Given the description of an element on the screen output the (x, y) to click on. 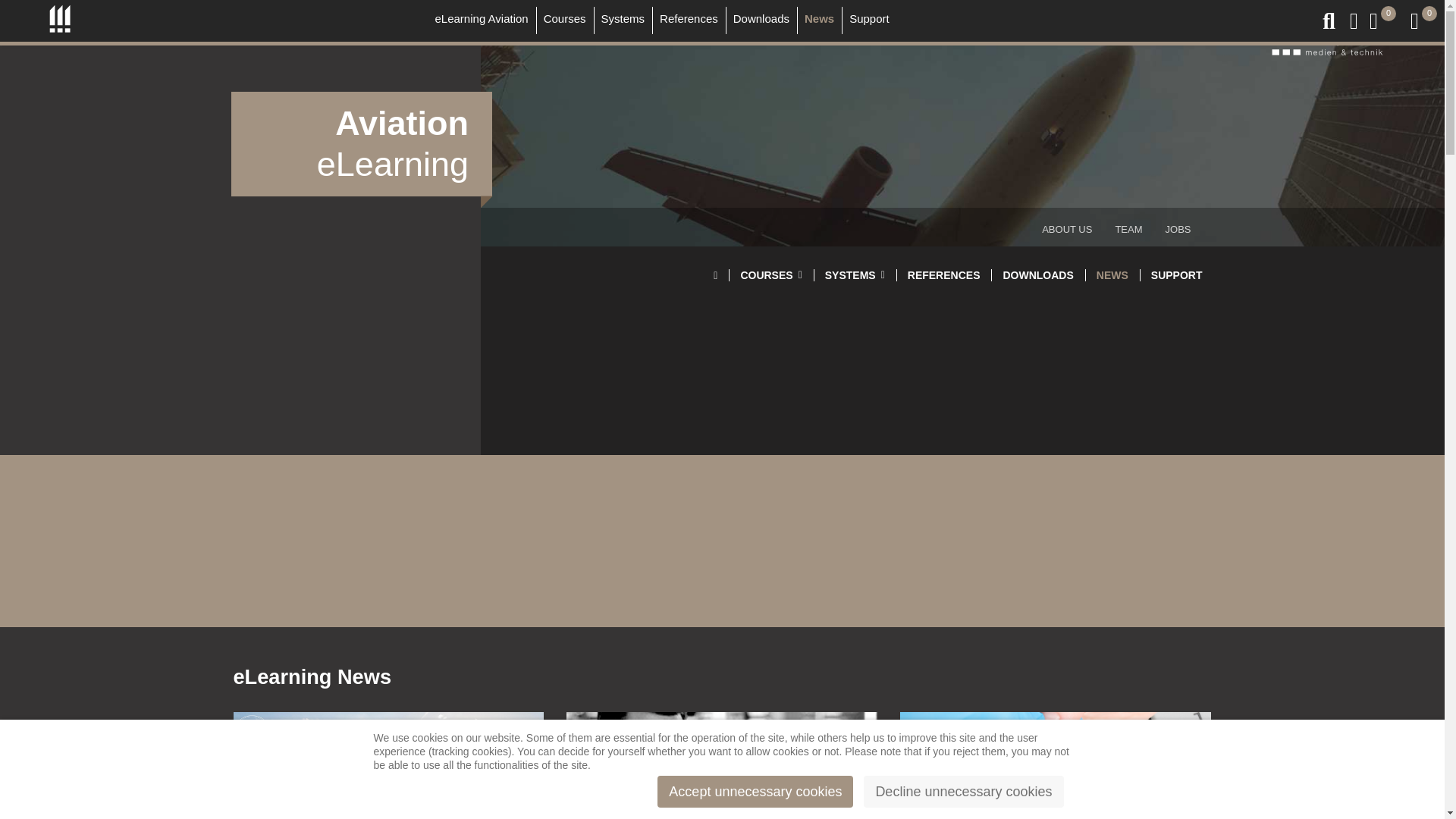
LMS-Login (1178, 35)
JOBS (1178, 229)
ABOUT US (1066, 229)
SYSTEMS (854, 275)
TEAM (1128, 229)
Infowerk (59, 17)
COURSES (770, 275)
